Given the description of an element on the screen output the (x, y) to click on. 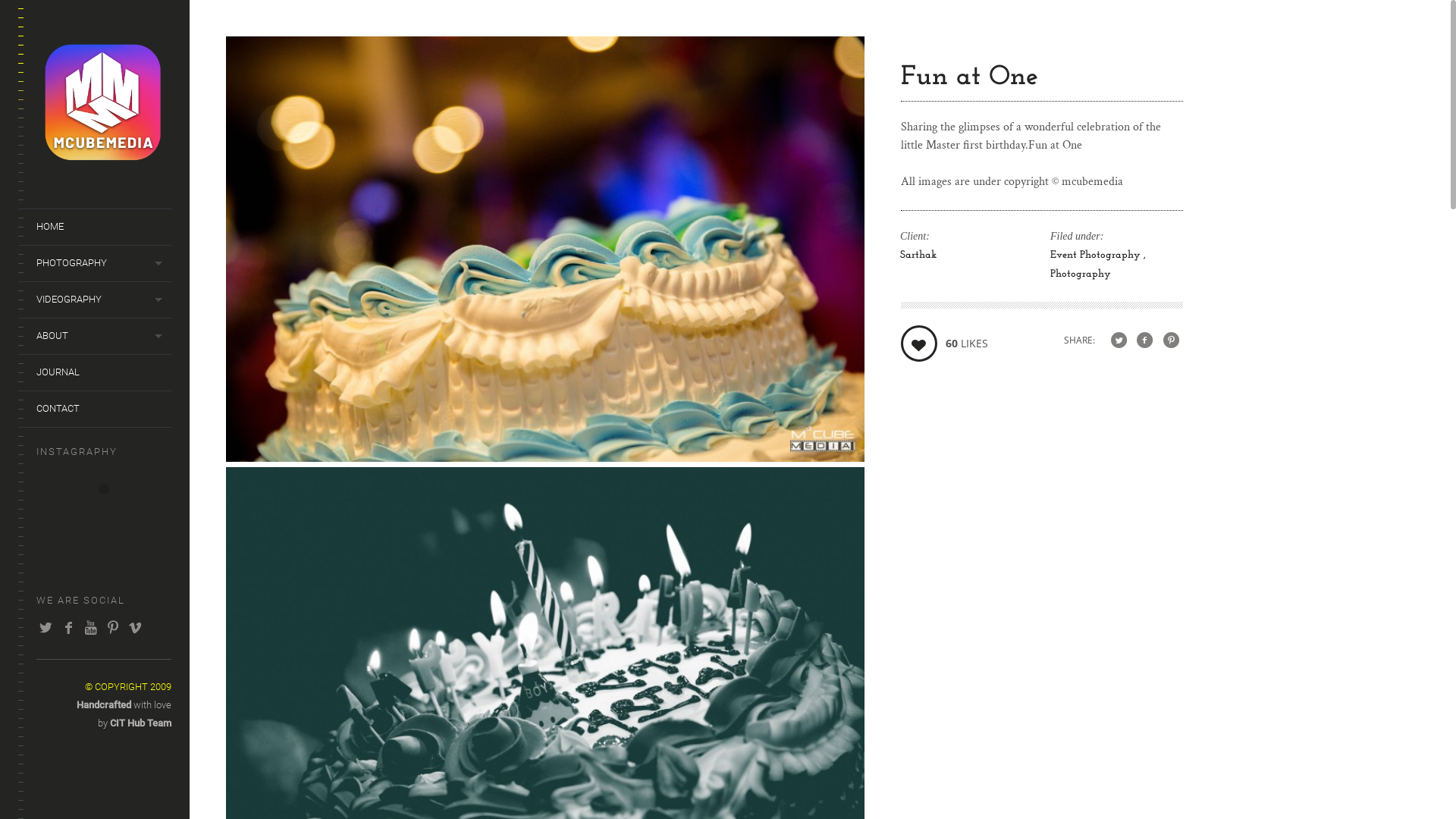
1O7A0886 Element type: hover (544, 457)
McubeMedia Element type: hover (103, 158)
Sarthak Element type: text (918, 254)
CONTACT Element type: text (94, 408)
Share on Twitter! Element type: hover (1118, 340)
PHOTOGRAPHY Element type: text (94, 262)
Pin it! Element type: hover (1171, 340)
CIT Hub Team Element type: text (140, 722)
Photography Element type: text (1080, 273)
ABOUT Element type: text (94, 335)
Event Photography Element type: text (1097, 254)
JOURNAL Element type: text (94, 372)
Share on Facebook! Element type: hover (1144, 340)
HOME Element type: text (94, 226)
VIDEOGRAPHY Element type: text (94, 299)
